Given the description of an element on the screen output the (x, y) to click on. 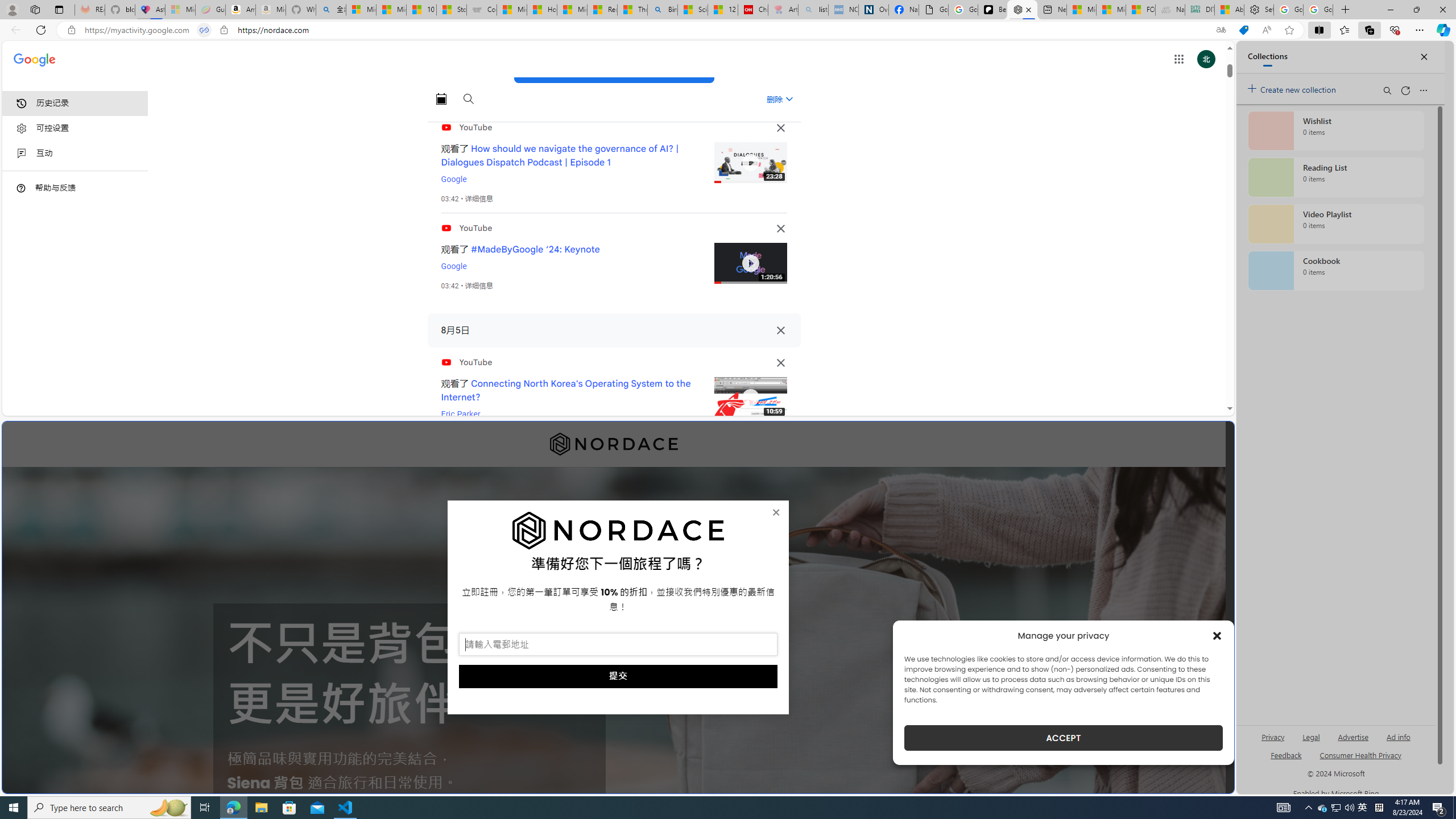
AutomationID: genId96 (1285, 759)
